Given the description of an element on the screen output the (x, y) to click on. 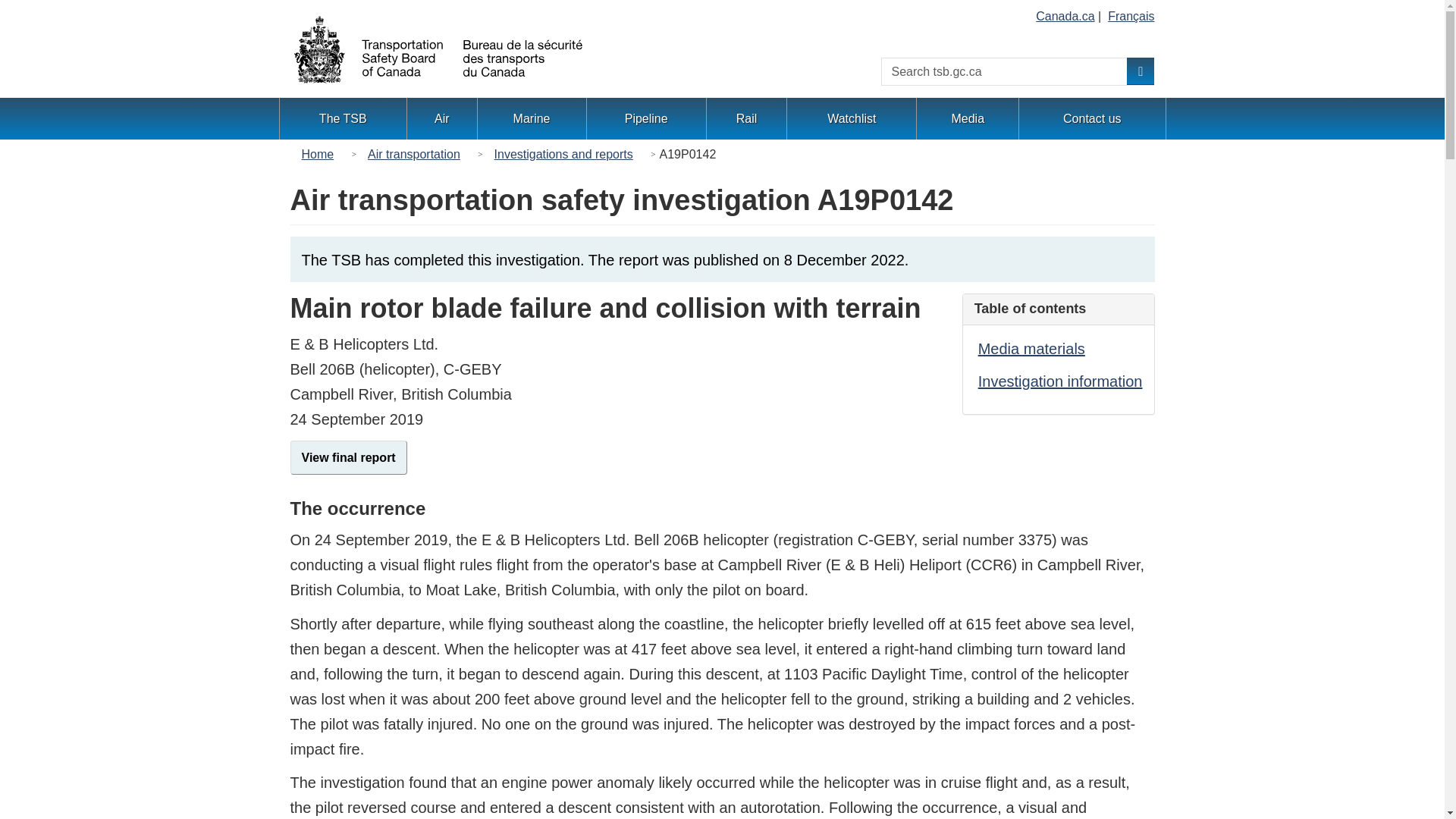
Investigations and reports (563, 154)
Home (321, 154)
Skip to main content (13, 17)
Rail (746, 118)
Search (1140, 71)
Canada.ca (1064, 15)
Watchlist (851, 118)
Media materials (1031, 348)
Marine (531, 118)
Air transportation (413, 154)
Media (967, 118)
Air (441, 118)
Pipeline (646, 118)
View final report (347, 457)
Contact us (1091, 118)
